Given the description of an element on the screen output the (x, y) to click on. 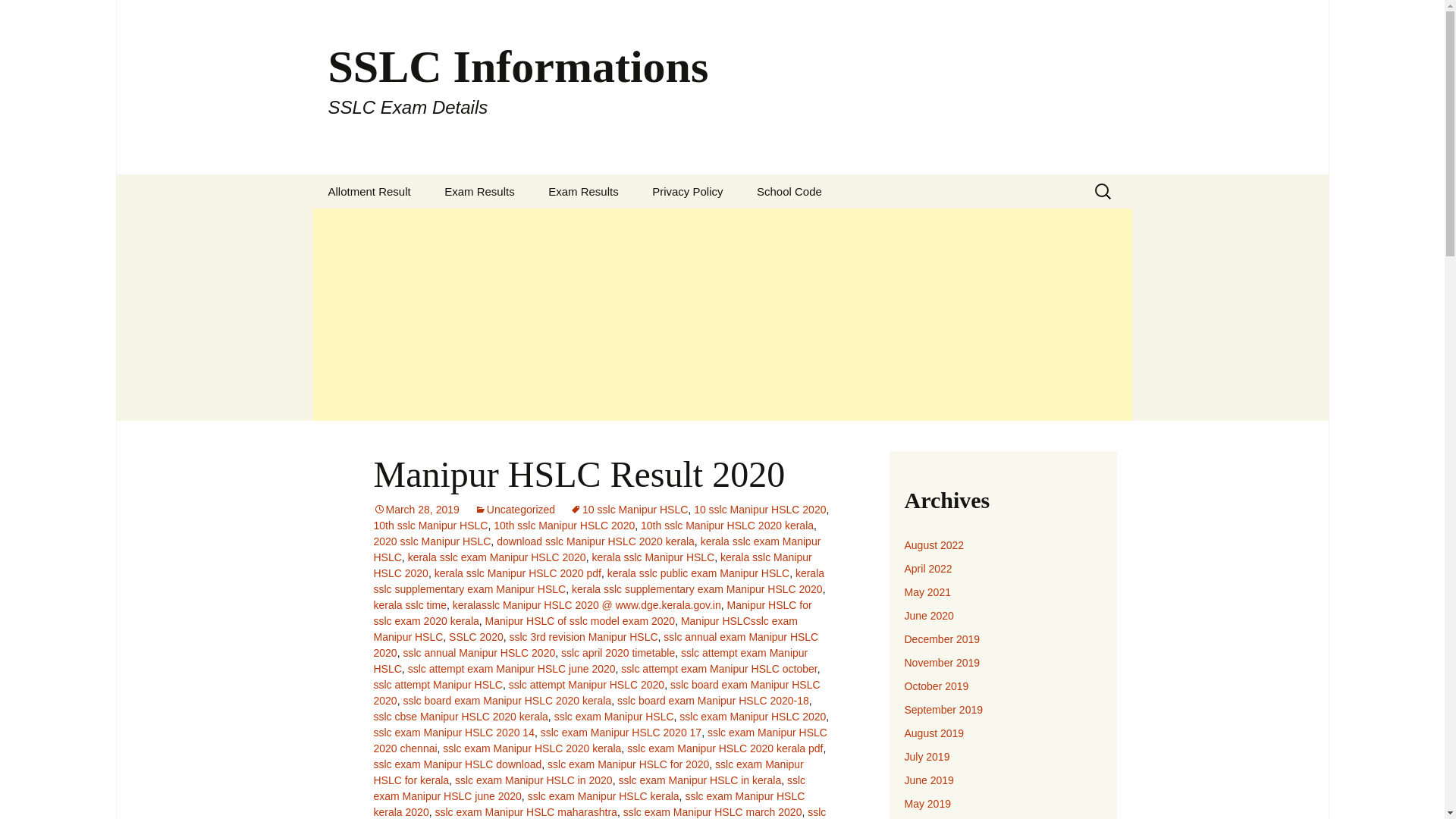
March 28, 2019 (415, 509)
sslc 3rd revision Manipur HSLC (583, 636)
2020 sslc Manipur HSLC (431, 541)
kerala sslc supplementary exam Manipur HSLC 2020 (697, 589)
sslc april 2020 timetable (617, 653)
Manipur HSLC for sslc exam 2020 kerala (591, 612)
